Given the description of an element on the screen output the (x, y) to click on. 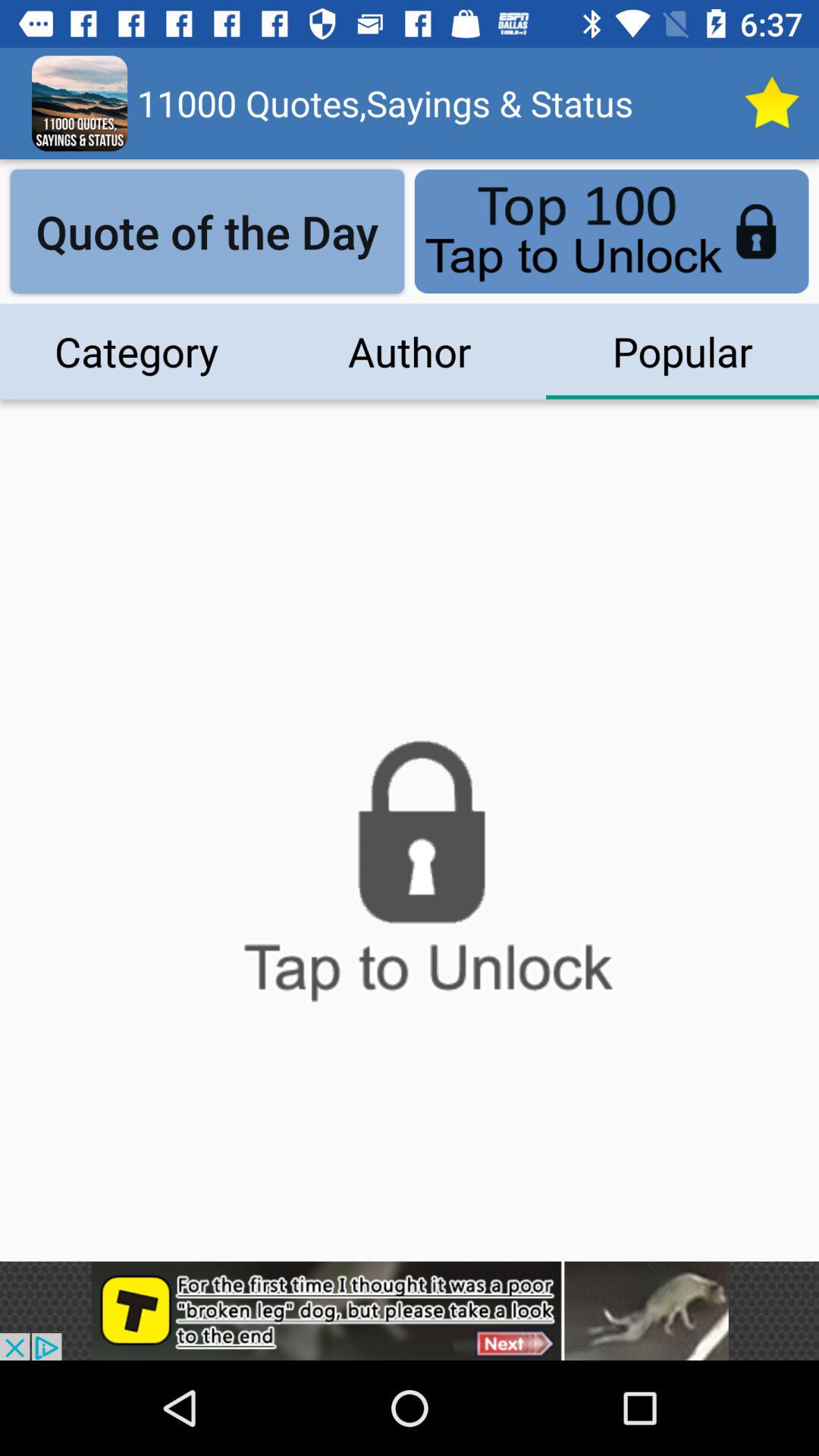
top quotes today (771, 103)
